Given the description of an element on the screen output the (x, y) to click on. 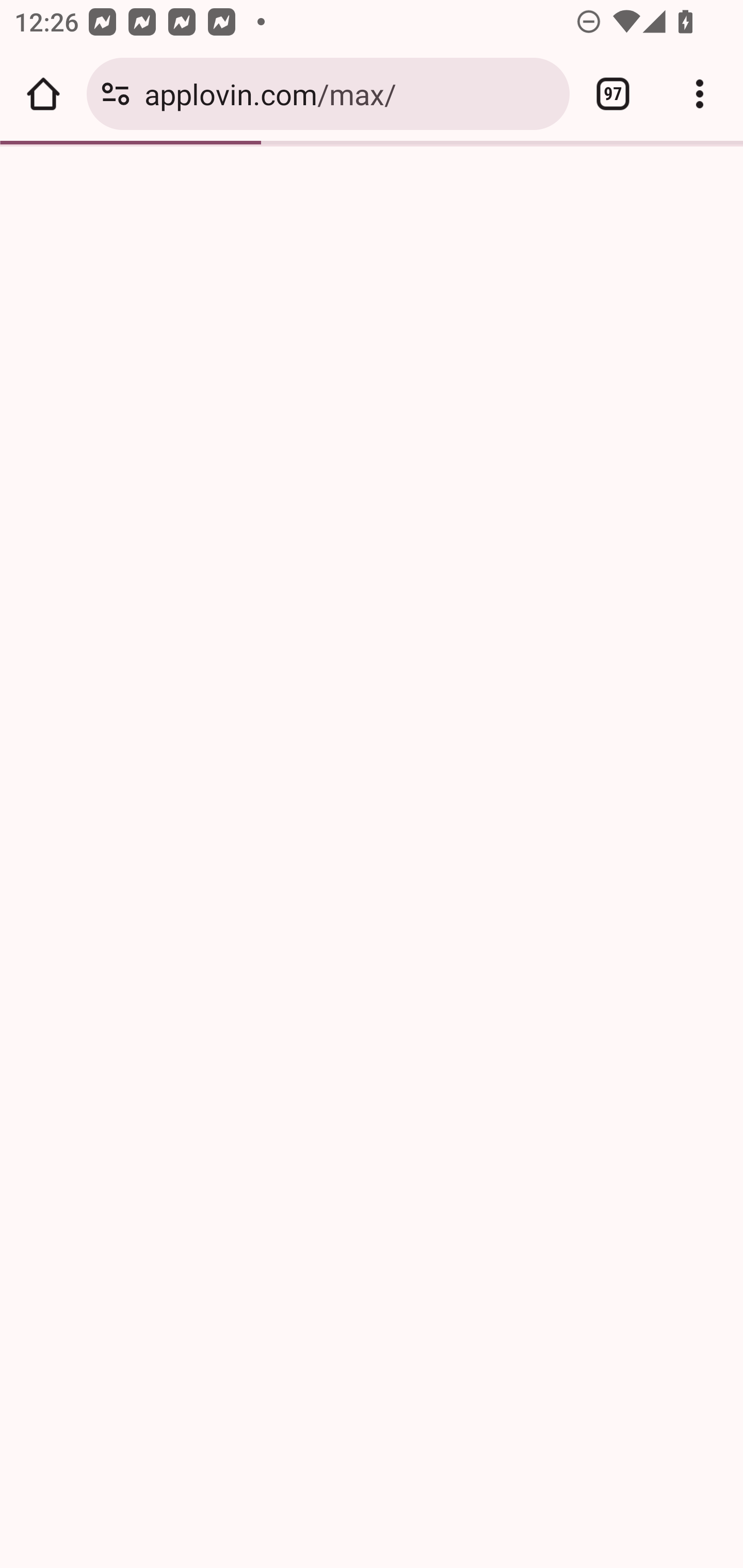
Open the home page (43, 93)
Connection is secure (115, 93)
Switch or close tabs (612, 93)
Customize and control Google Chrome (699, 93)
applovin.com/max/ (349, 92)
